Given the description of an element on the screen output the (x, y) to click on. 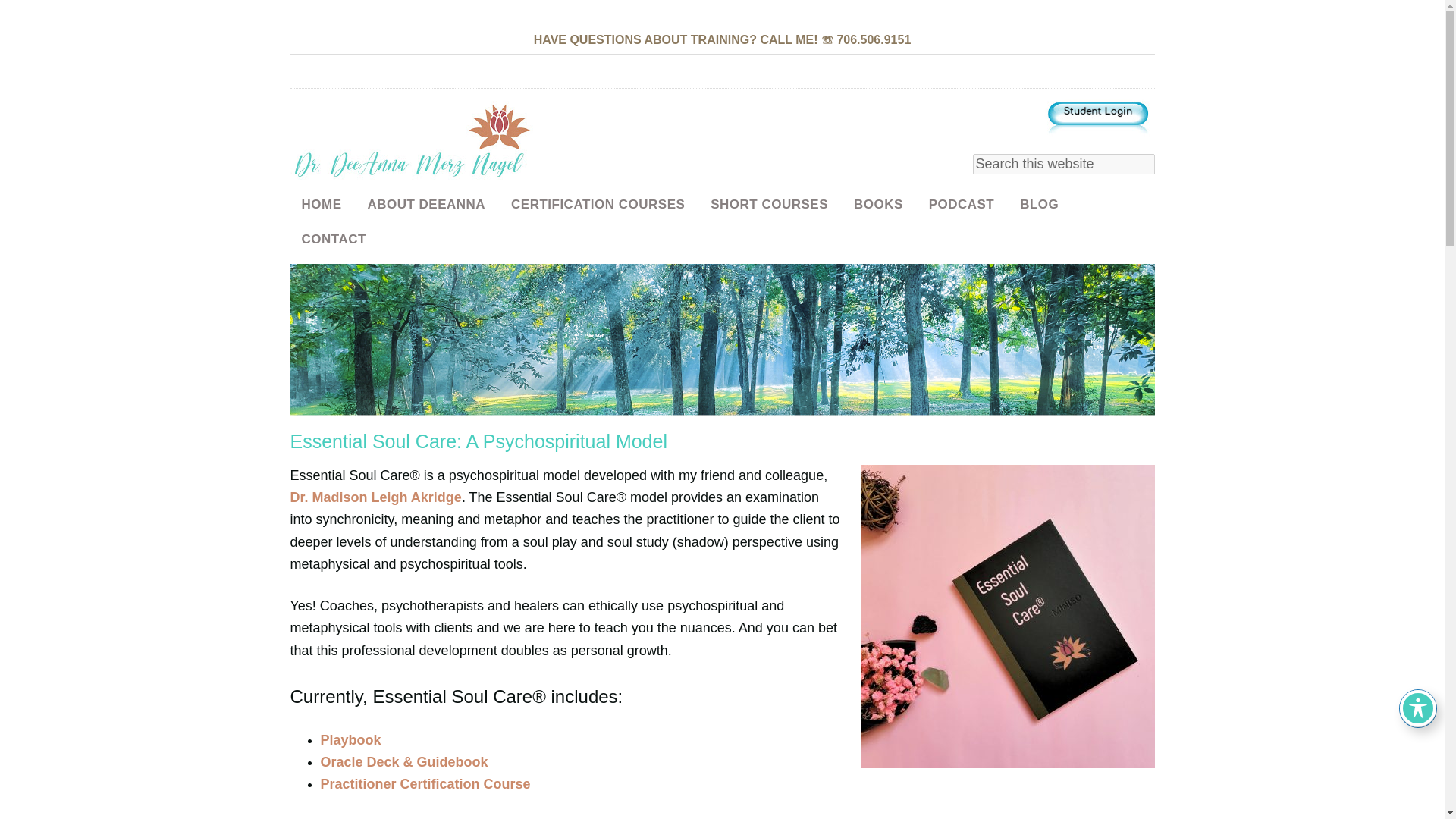
BOOKS (878, 204)
Practitioner Certification Course (424, 783)
Dr. DeeAnna Merz Nagel (410, 141)
PODCAST (961, 204)
CERTIFICATION COURSES (597, 204)
Playbook (350, 739)
SHORT COURSES (769, 204)
BLOG (1039, 204)
HOME (320, 204)
Dr. Madison Leigh Akridge (375, 497)
CONTACT (333, 238)
ABOUT DEEANNA (425, 204)
